Given the description of an element on the screen output the (x, y) to click on. 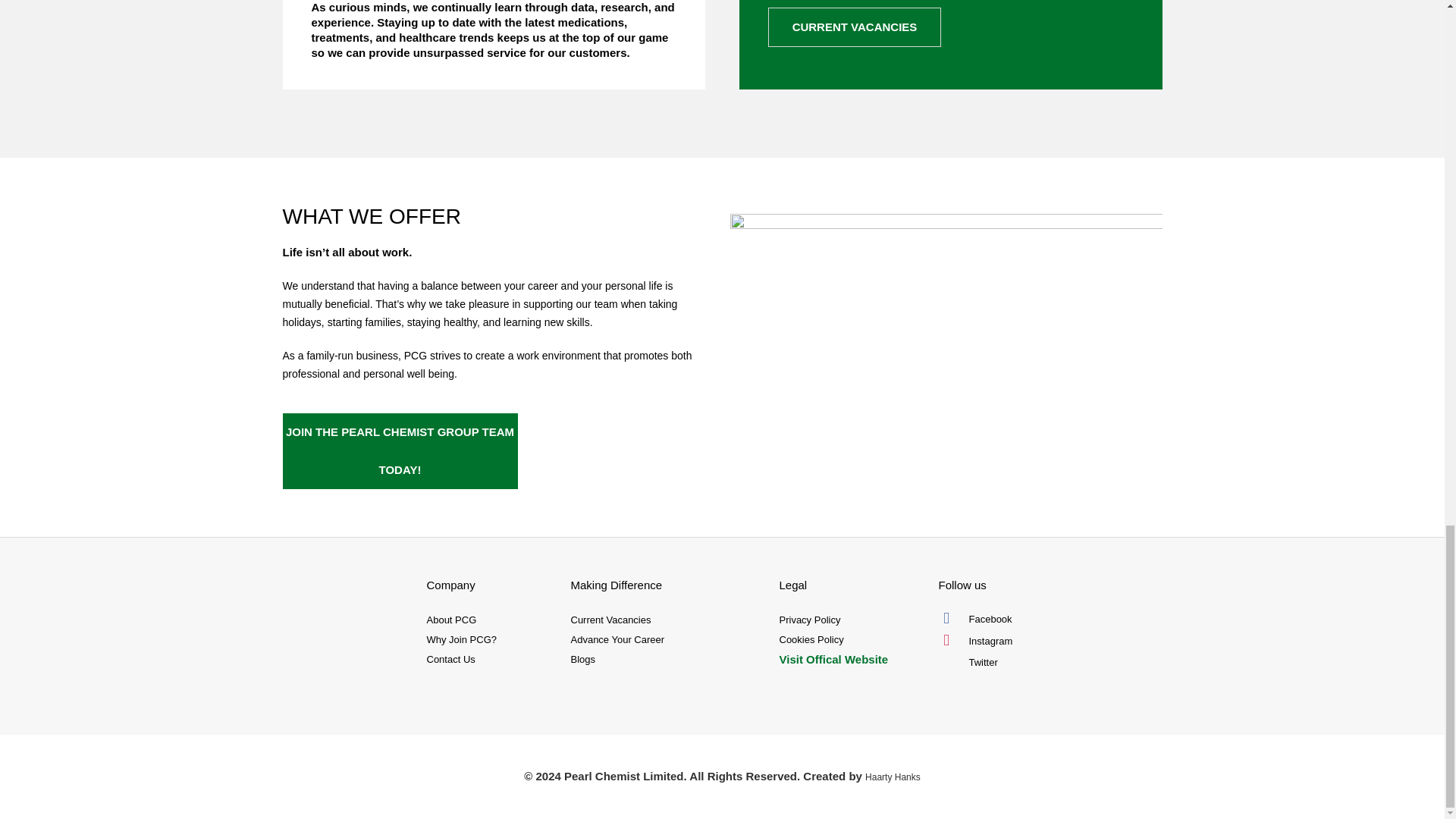
About PCG (490, 619)
Current Vacancies (666, 619)
CURRENT VACANCIES (854, 26)
Contact Us (490, 659)
JOIN THE PEARL CHEMIST GROUP TEAM TODAY! (399, 450)
Why Join PCG? (490, 639)
